Given the description of an element on the screen output the (x, y) to click on. 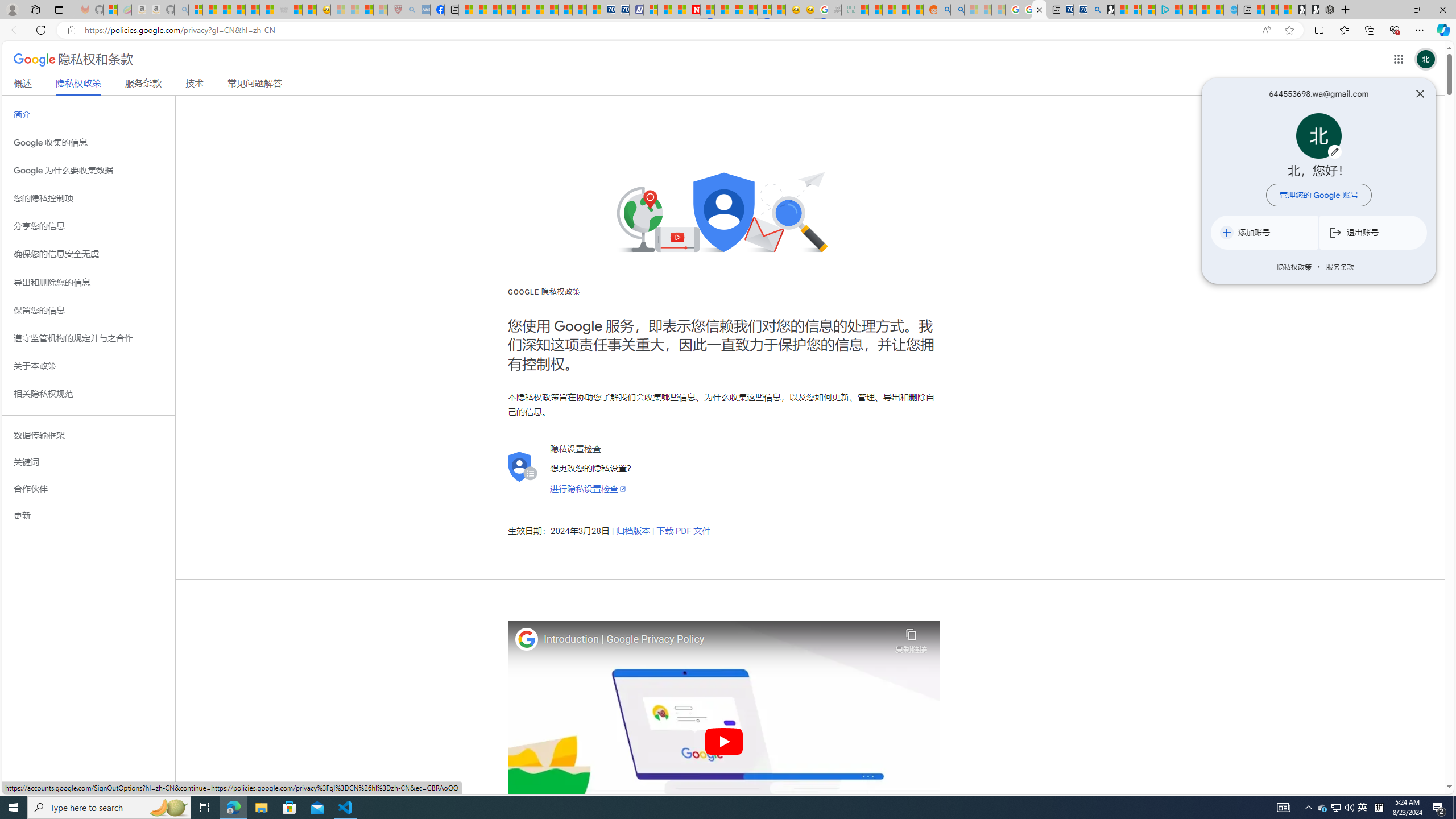
12 Popular Science Lies that Must be Corrected - Sleeping (380, 9)
Newsweek - News, Analysis, Politics, Business, Technology (692, 9)
Introduction | Google Privacy Policy (716, 639)
Class:  NMm5M (1334, 232)
